Given the description of an element on the screen output the (x, y) to click on. 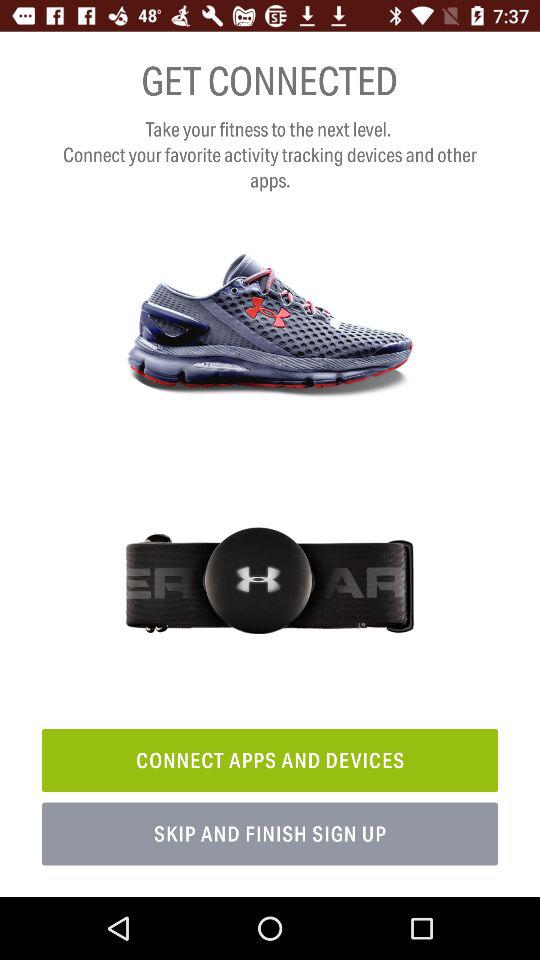
turn off icon below the connect apps and item (269, 833)
